Given the description of an element on the screen output the (x, y) to click on. 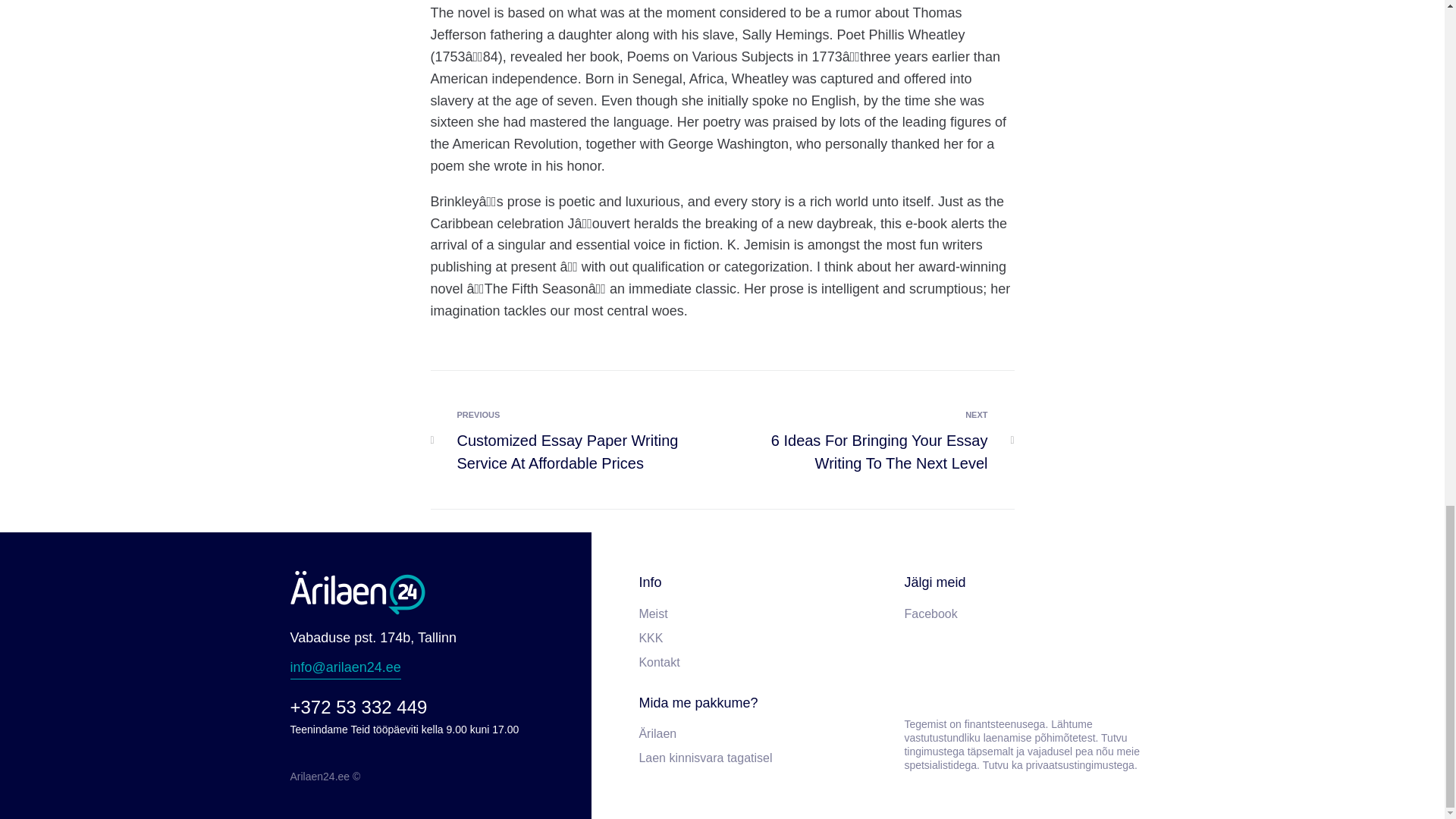
Laen kinnisvara tagatisel (763, 758)
privaatsustingimustega (1080, 765)
Facebook (1029, 613)
Meist (763, 613)
KKK (763, 638)
Kontakt (763, 662)
